Given the description of an element on the screen output the (x, y) to click on. 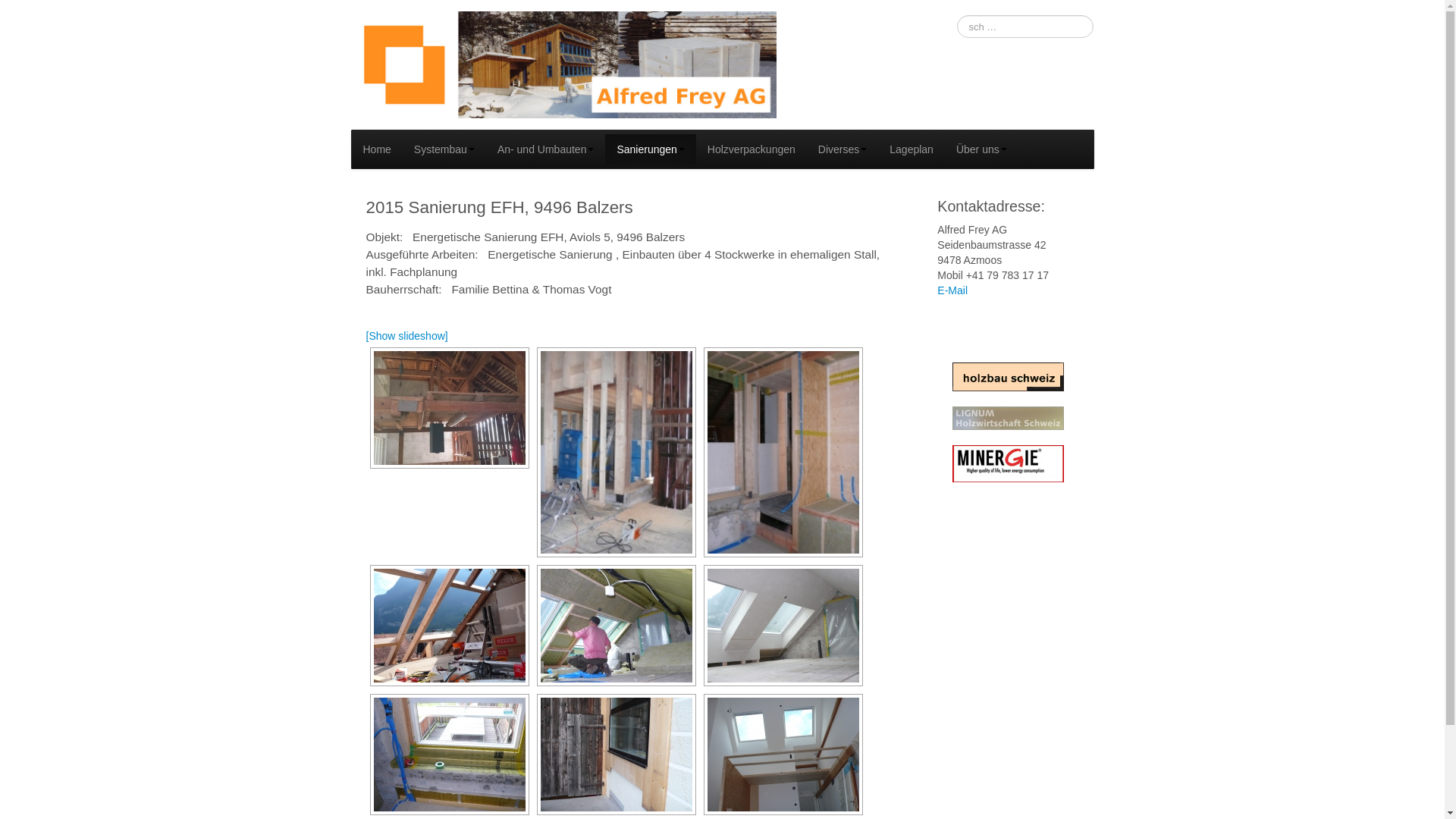
Home Element type: text (376, 149)
Lageplan Element type: text (911, 149)
IMG_20150416_140341 Element type: hover (448, 407)
Diverses Element type: text (842, 149)
An- und Umbauten Element type: text (545, 149)
E-Mail Element type: text (952, 290)
P1070399 Element type: hover (782, 452)
Holzverpackungen Element type: text (751, 149)
P1080278 Element type: hover (615, 754)
P1070505 Element type: hover (782, 625)
P1080312 Element type: hover (782, 754)
P1070015 Element type: hover (615, 452)
Alfred Frey AG Element type: hover (562, 63)
[Show slideshow] Element type: text (406, 335)
P1070445 Element type: hover (448, 625)
P1070492 Element type: hover (615, 625)
Systembau Element type: text (444, 149)
Sanierungen Element type: text (650, 149)
P1070741 Element type: hover (448, 754)
